Given the description of an element on the screen output the (x, y) to click on. 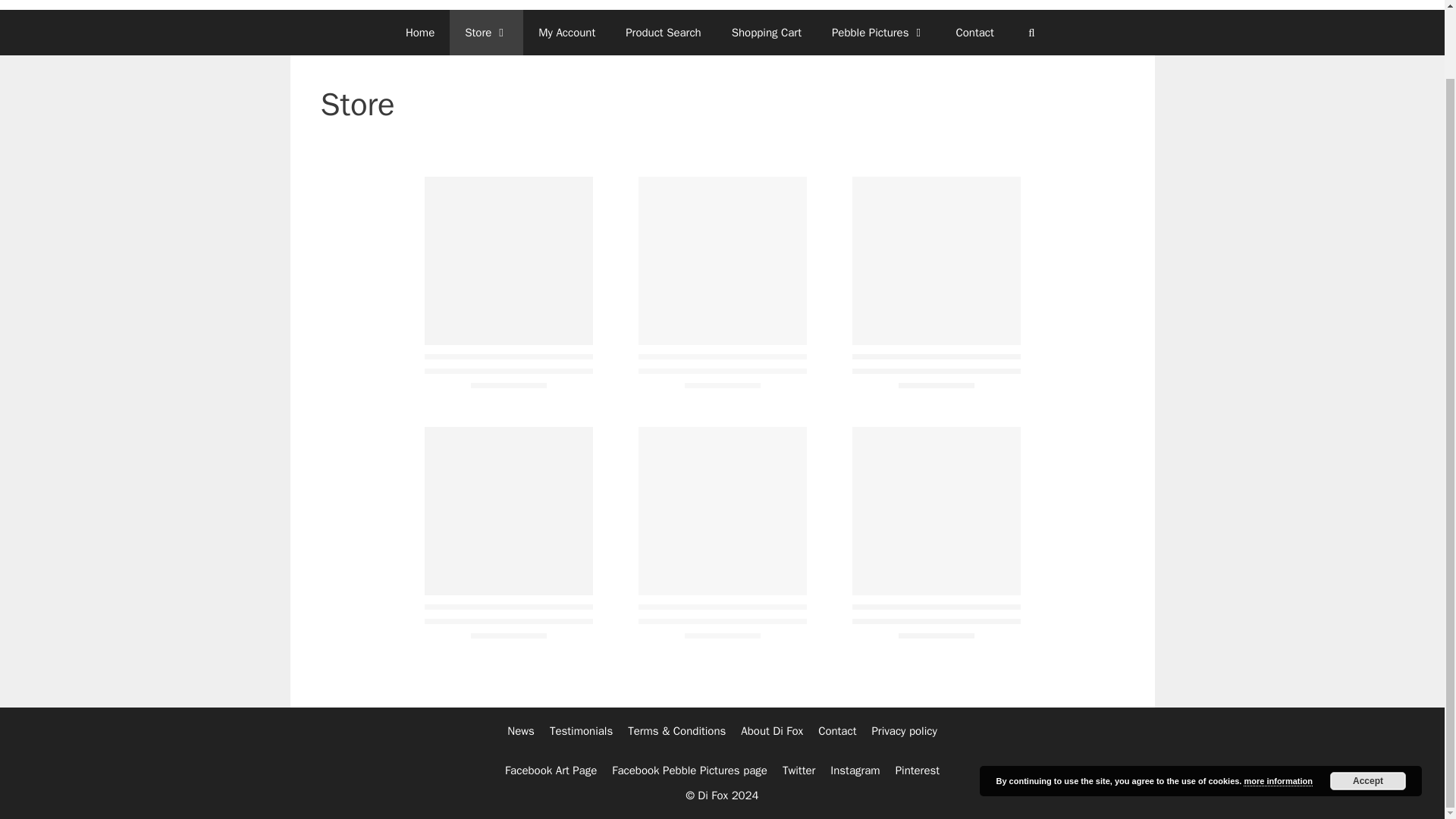
Privacy policy (903, 730)
Twitter (799, 770)
Contact (837, 730)
Instagram (854, 770)
Contact (974, 31)
Testimonials (581, 730)
About Di Fox (772, 730)
Pinterest (917, 770)
Facebook Pebble Pictures page (689, 770)
Home (419, 31)
Shopping Cart (766, 31)
My Account (566, 31)
Pebble Pictures (878, 31)
Accept (1368, 705)
Store (485, 31)
